Given the description of an element on the screen output the (x, y) to click on. 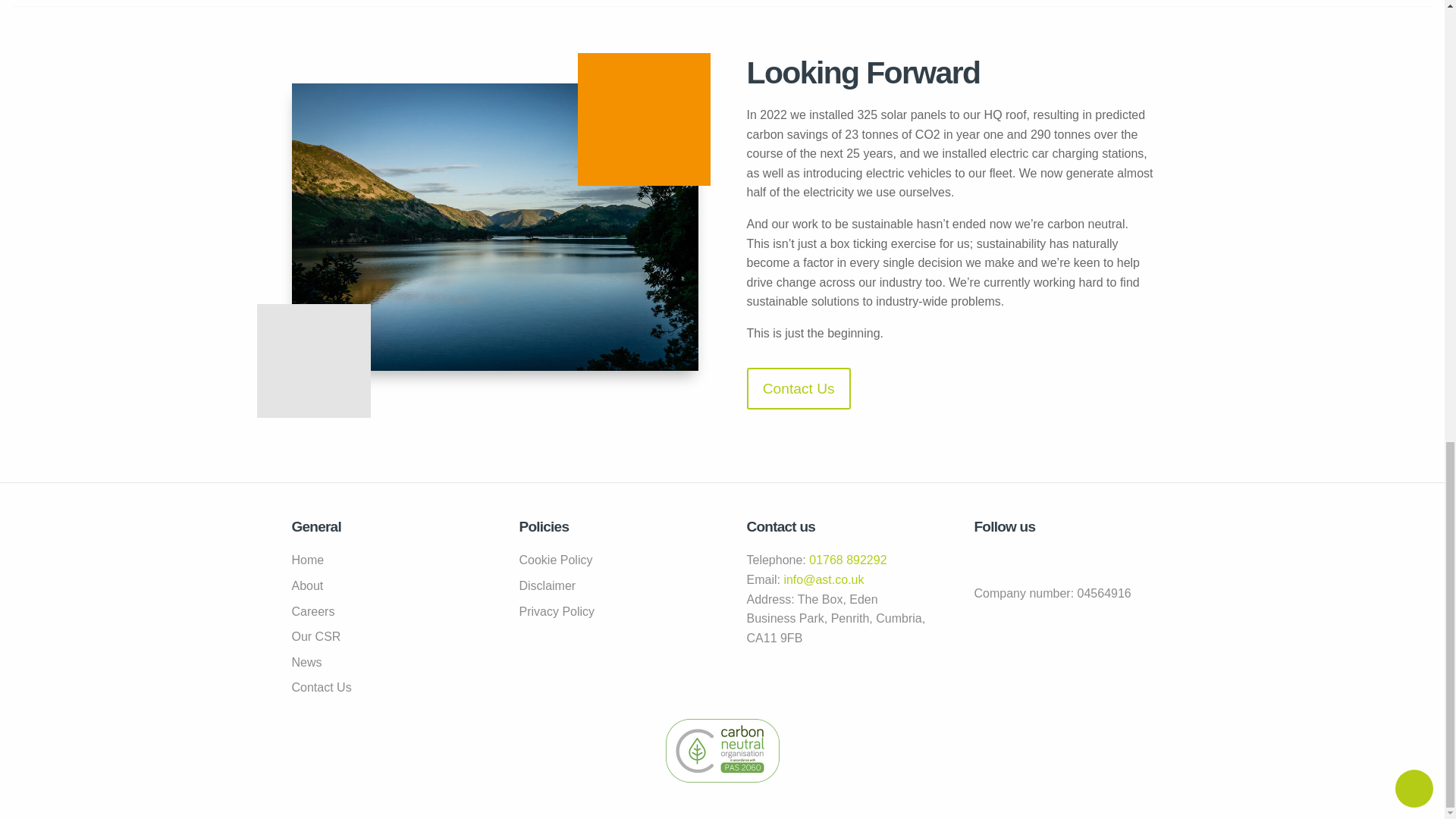
News (380, 662)
Contact Us (797, 388)
Privacy Policy (607, 611)
Our CSR (380, 637)
Contact Us (380, 687)
Disclaimer (607, 586)
About (380, 586)
01768 892292 (847, 559)
Home (380, 560)
Cookie Policy (607, 560)
